Given the description of an element on the screen output the (x, y) to click on. 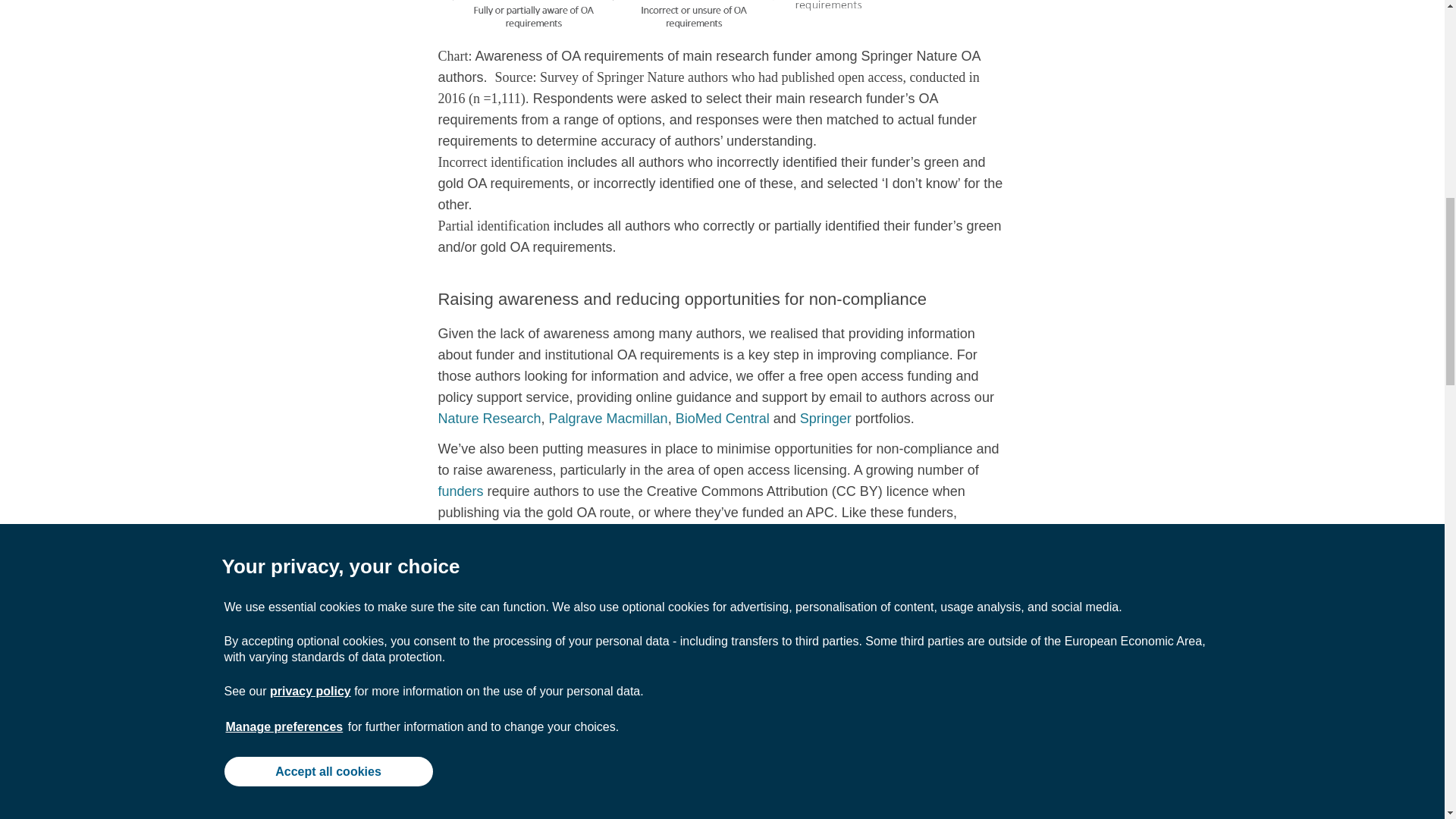
guidance (526, 703)
Jisc Publications Router (919, 815)
Springer (825, 418)
Palgrave Macmillan (608, 418)
Nature Research (489, 418)
BioMed Central (722, 418)
funders (460, 491)
